Given the description of an element on the screen output the (x, y) to click on. 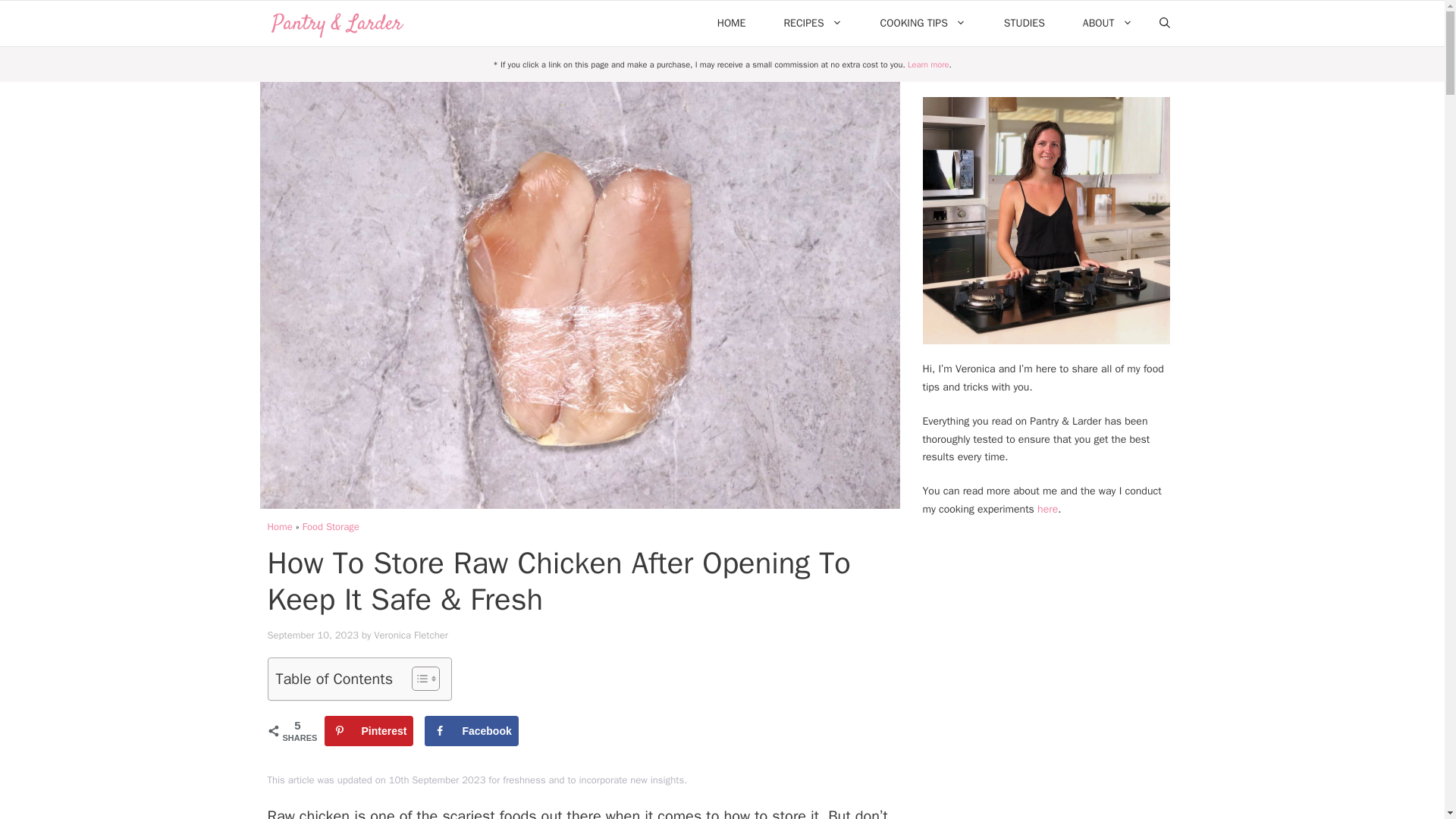
Food Storage (330, 526)
HOME (731, 22)
Save to Pinterest (368, 730)
Pinterest (368, 730)
STUDIES (1024, 22)
Learn more (928, 63)
ABOUT (1107, 22)
Share on Facebook (471, 730)
Facebook (471, 730)
RECIPES (812, 22)
